Given the description of an element on the screen output the (x, y) to click on. 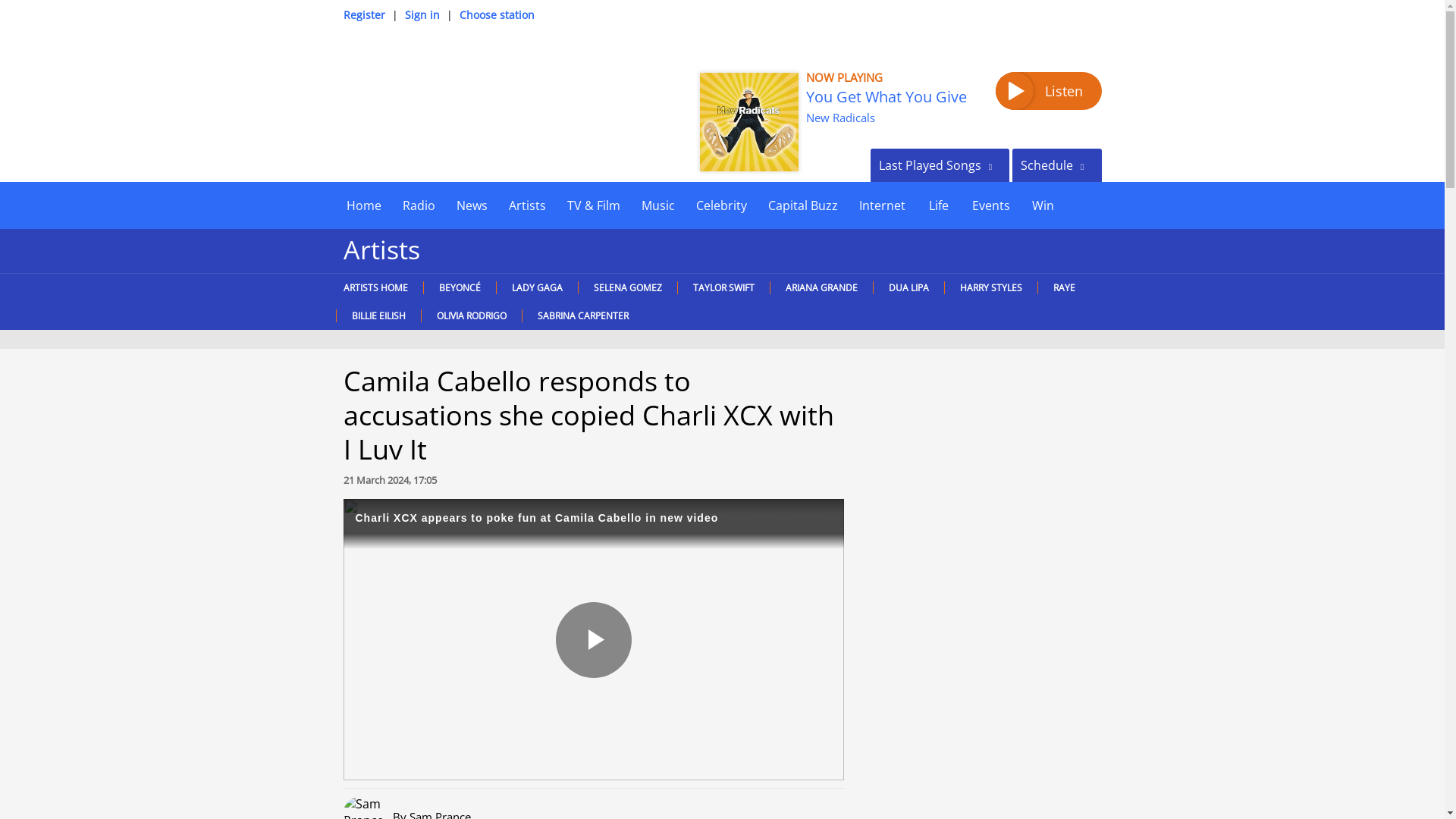
Last Played Songs (939, 164)
ARIANA GRANDE (820, 287)
Capital (431, 103)
Schedule (1055, 164)
Music (657, 205)
Listen (1047, 90)
RAYE (1063, 287)
Choose station (497, 14)
HARRY STYLES (989, 287)
Internet (881, 205)
